Given the description of an element on the screen output the (x, y) to click on. 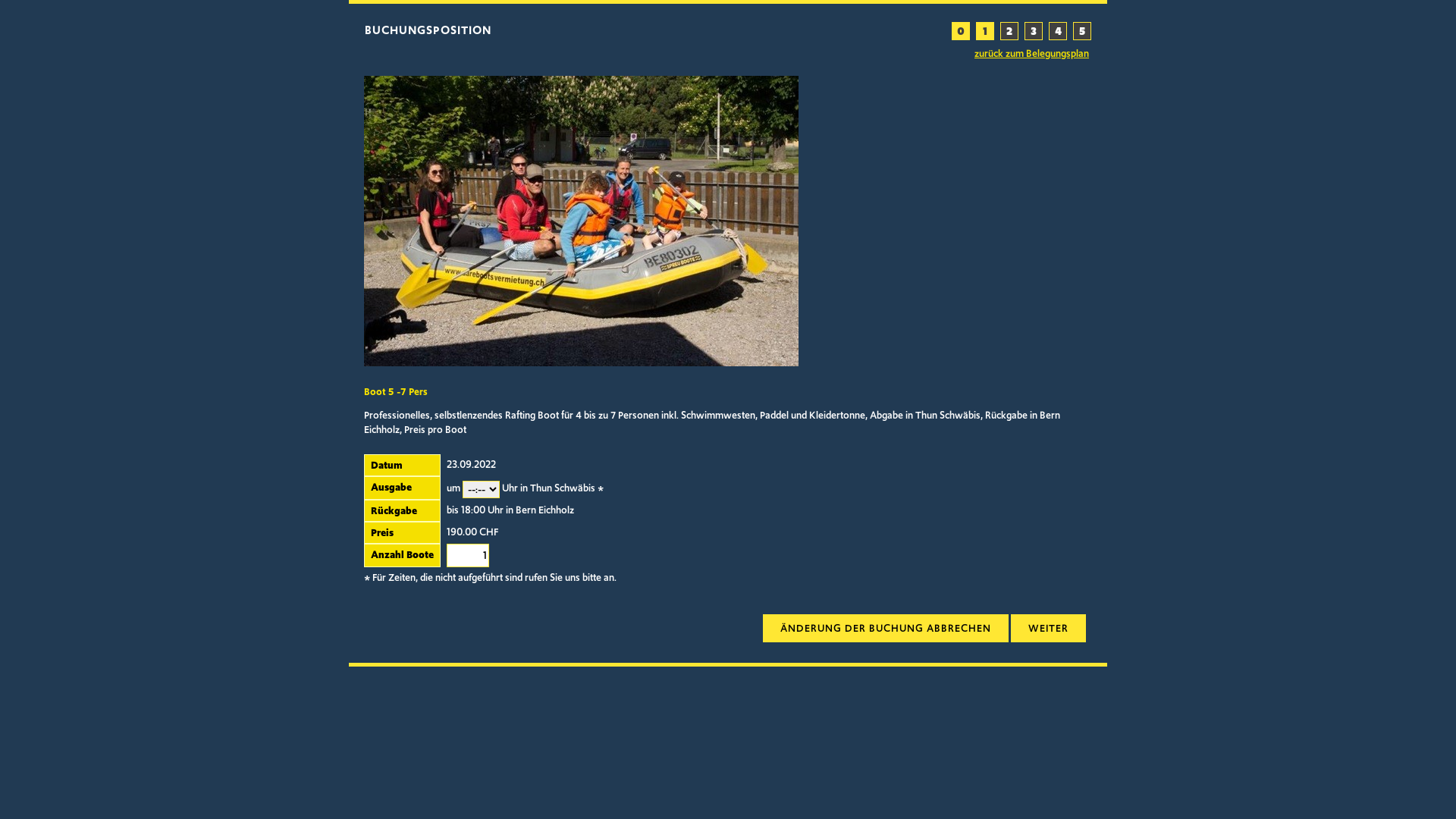
weiter zur Uebersicht Element type: hover (1047, 628)
Aenderung verwerden Element type: hover (885, 628)
0 Element type: text (960, 30)
2 Element type: text (1009, 30)
weiter Element type: text (1047, 628)
